Given the description of an element on the screen output the (x, y) to click on. 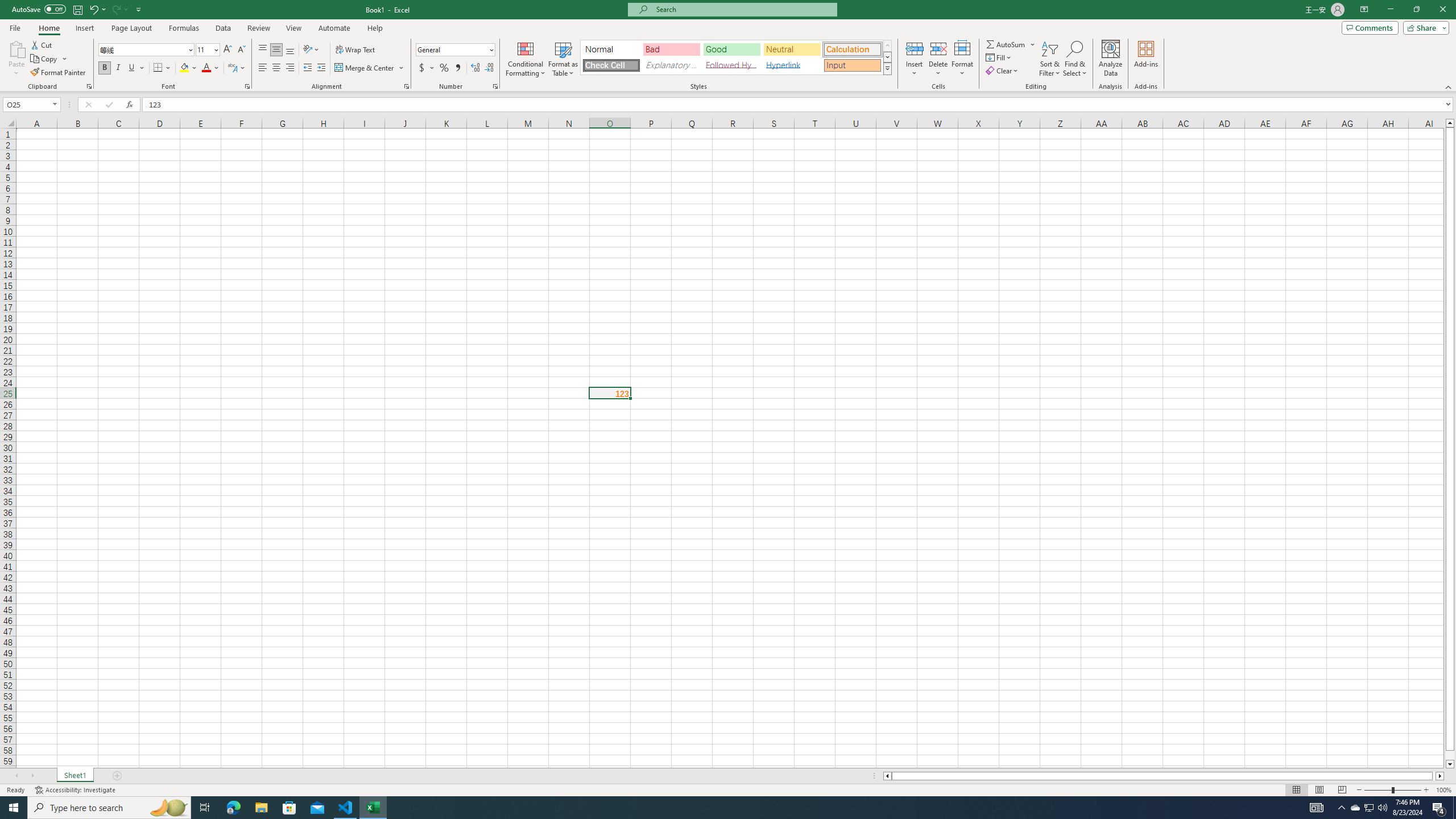
Copy (49, 58)
Decrease Decimal (489, 67)
Comma Style (457, 67)
Format (962, 58)
Increase Decimal (474, 67)
Accounting Number Format (426, 67)
Increase Font Size (227, 49)
